Given the description of an element on the screen output the (x, y) to click on. 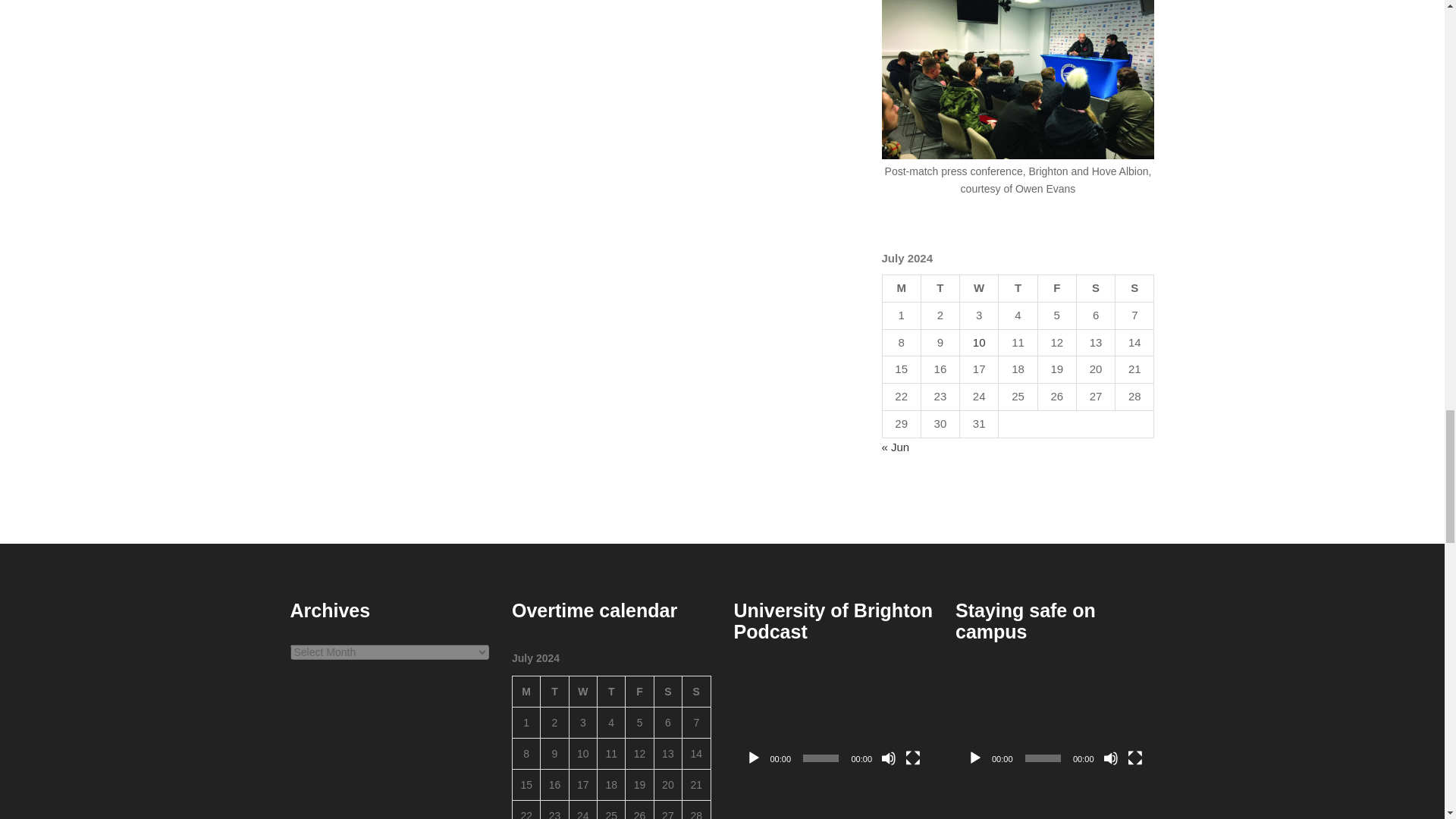
Saturday (1095, 288)
Thursday (611, 690)
Friday (639, 690)
Play (753, 758)
Friday (1055, 288)
Tuesday (939, 288)
Tuesday (554, 690)
Saturday (667, 690)
Wednesday (582, 690)
Thursday (1017, 288)
Monday (526, 690)
Mute (888, 758)
Sunday (696, 690)
Sunday (1134, 288)
Monday (901, 288)
